Given the description of an element on the screen output the (x, y) to click on. 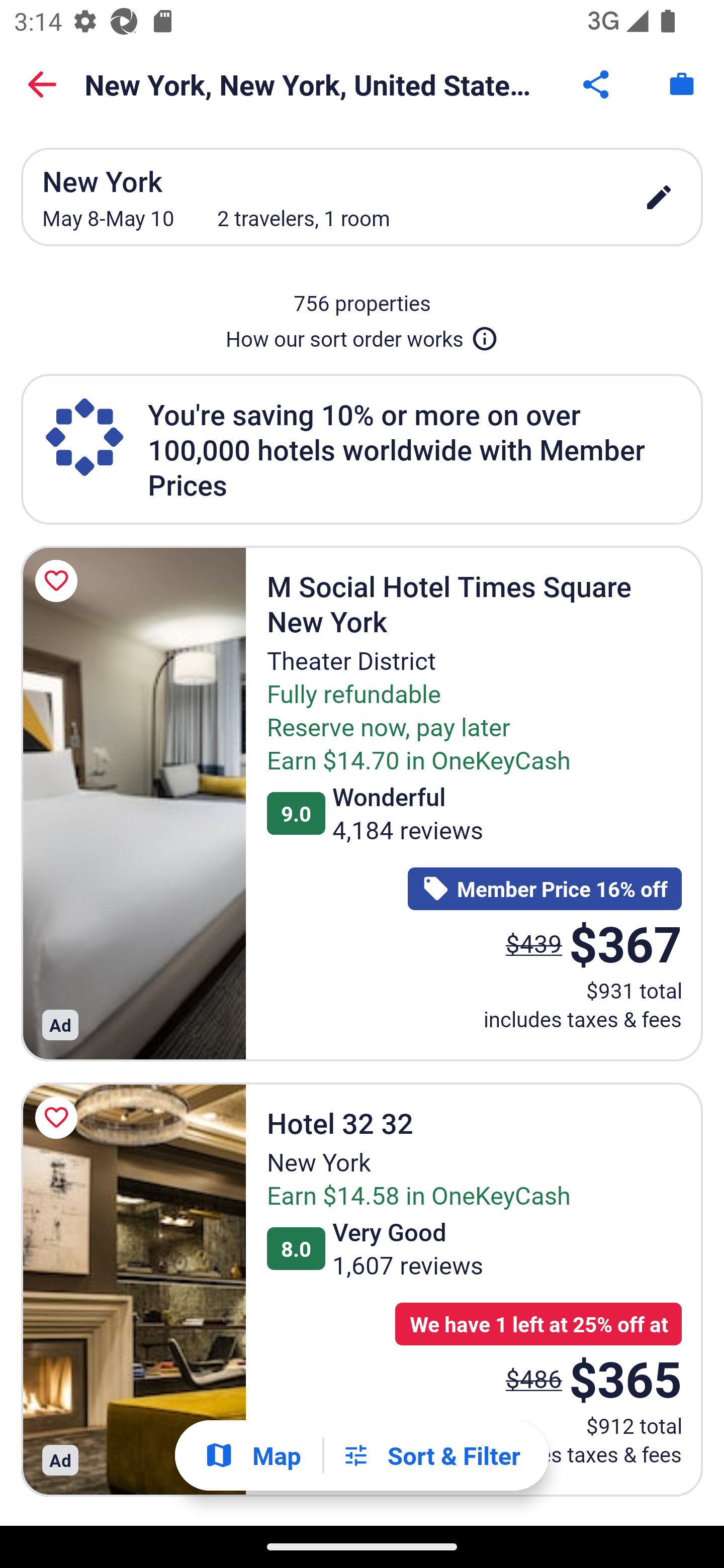
Back (42, 84)
Share Button (597, 84)
Trips. Button (681, 84)
New York May 8-May 10 2 travelers, 1 room edit (361, 196)
How our sort order works (361, 334)
M Social Hotel Times Square New York (133, 803)
$439 The price was $439 (533, 943)
Save Hotel 32 32 to a trip (59, 1117)
Hotel 32 32 (133, 1288)
$486 The price was $486 (533, 1377)
Filters Sort & Filter Filters Button (430, 1455)
Show map Map Show map Button (252, 1455)
